Given the description of an element on the screen output the (x, y) to click on. 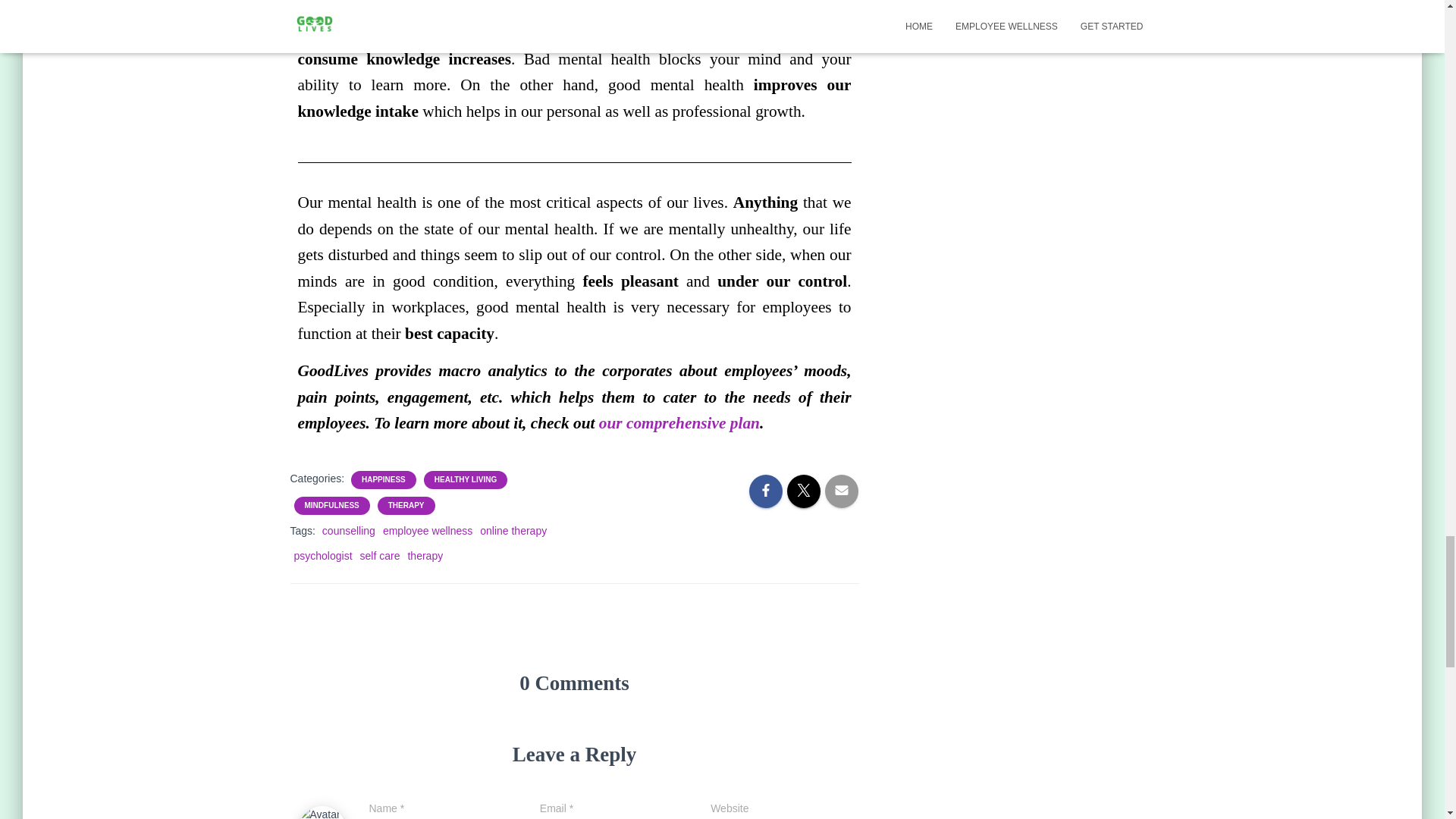
employee wellness (426, 530)
online therapy (513, 530)
our comprehensive plan (679, 423)
counselling (348, 530)
self care (379, 555)
THERAPY (406, 505)
HAPPINESS (383, 480)
HEALTHY LIVING (464, 480)
psychologist (323, 555)
MINDFULNESS (331, 505)
